Given the description of an element on the screen output the (x, y) to click on. 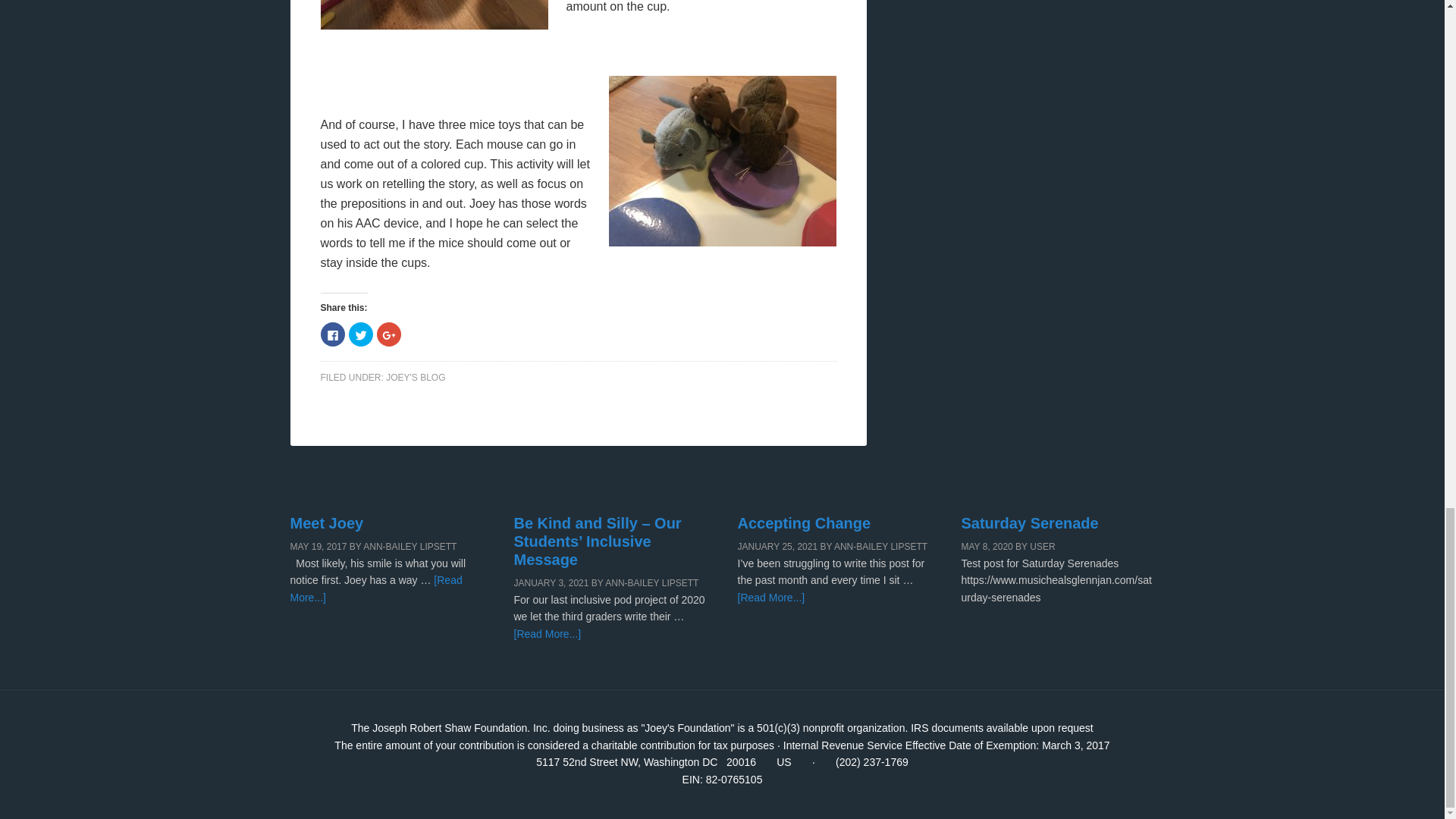
Click to share on Twitter (360, 334)
JOEY'S BLOG (415, 377)
ANN-BAILEY LIPSETT (880, 546)
Click to share on Facebook (331, 334)
Accepting Change (803, 523)
ANN-BAILEY LIPSETT (409, 546)
ANN-BAILEY LIPSETT (651, 583)
Meet Joey (325, 523)
